Given the description of an element on the screen output the (x, y) to click on. 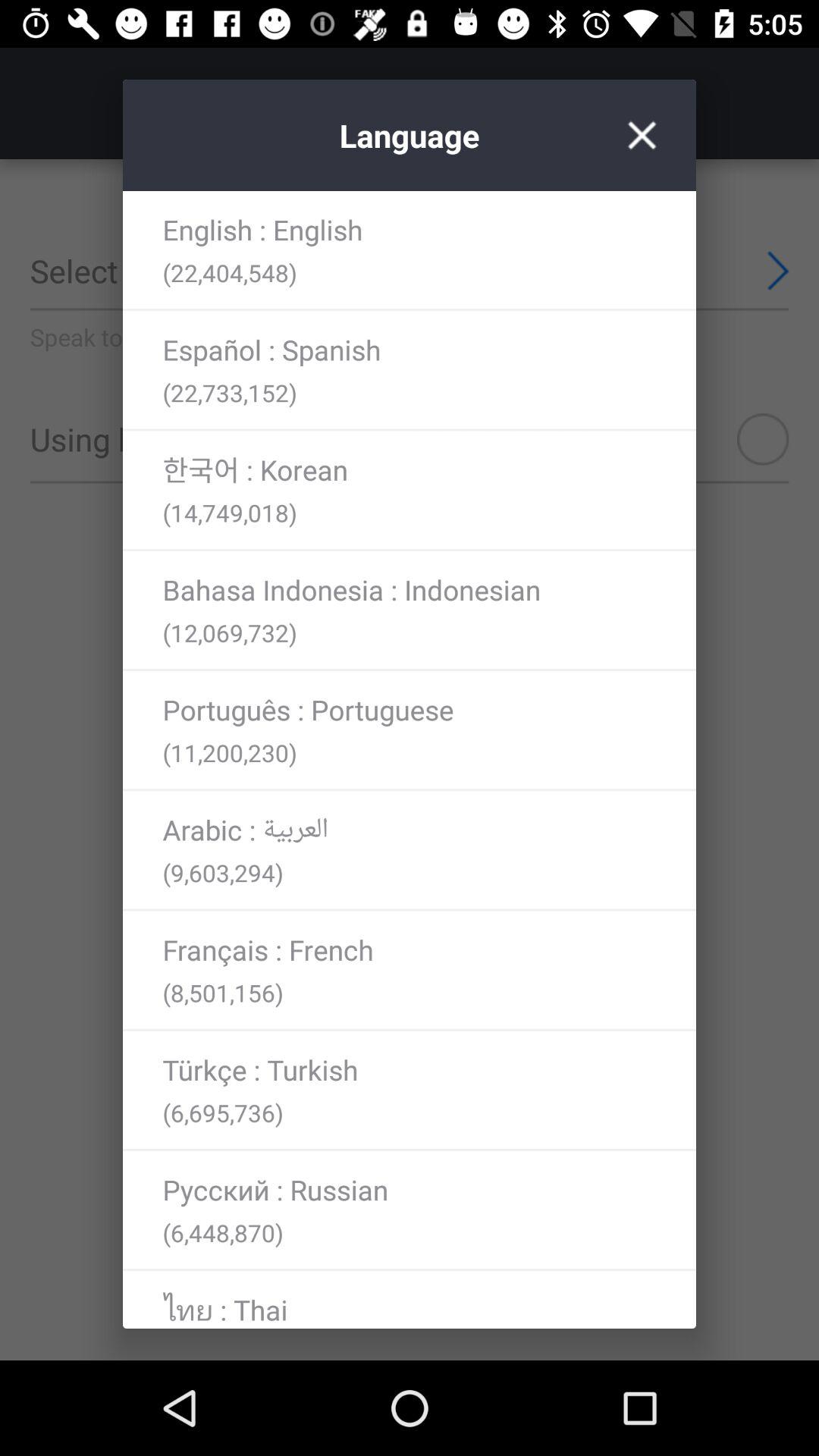
closes the language selection box (642, 135)
